Given the description of an element on the screen output the (x, y) to click on. 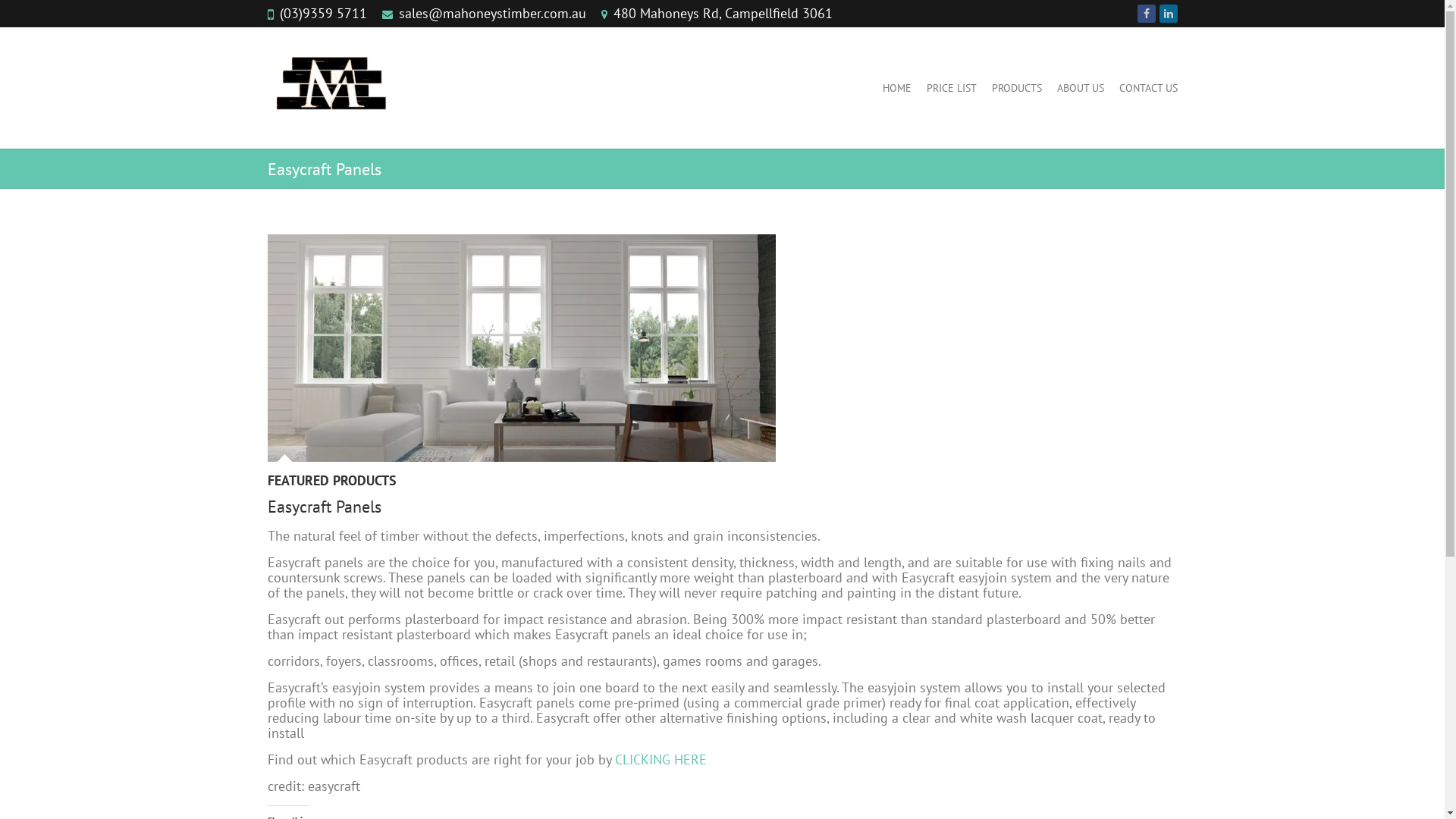
PRICE LIST Element type: text (951, 87)
ABOUT US Element type: text (1080, 87)
(03)9359 5711 Element type: text (322, 12)
CONTACT US Element type: text (1148, 87)
 on Facebook Element type: hover (1146, 13)
FEATURED PRODUCTS Element type: text (330, 484)
Easycraft Panels Element type: hover (520, 347)
Easycraft Panels Element type: hover (721, 347)
HOME Element type: text (896, 87)
sales@mahoneystimber.com.au Element type: text (492, 12)
PRODUCTS Element type: text (1016, 87)
CLICKING HERE Element type: text (660, 759)
 on LinkedIn Element type: hover (1167, 13)
